Given the description of an element on the screen output the (x, y) to click on. 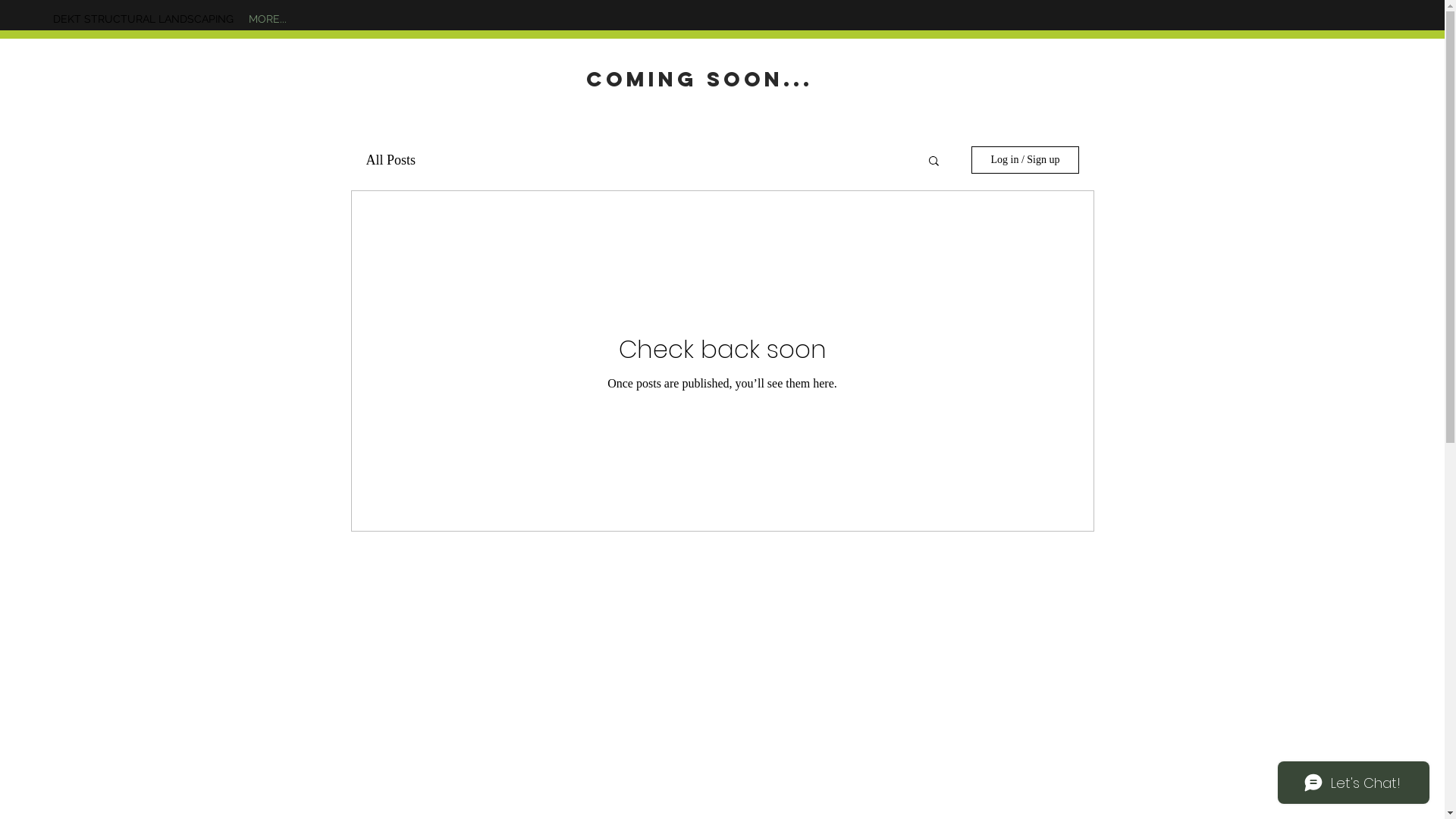
DEKT STRUCTURAL LANDSCAPING Element type: text (143, 18)
All Posts Element type: text (390, 159)
MORE... Element type: text (267, 18)
Log in / Sign up Element type: text (1024, 159)
